Given the description of an element on the screen output the (x, y) to click on. 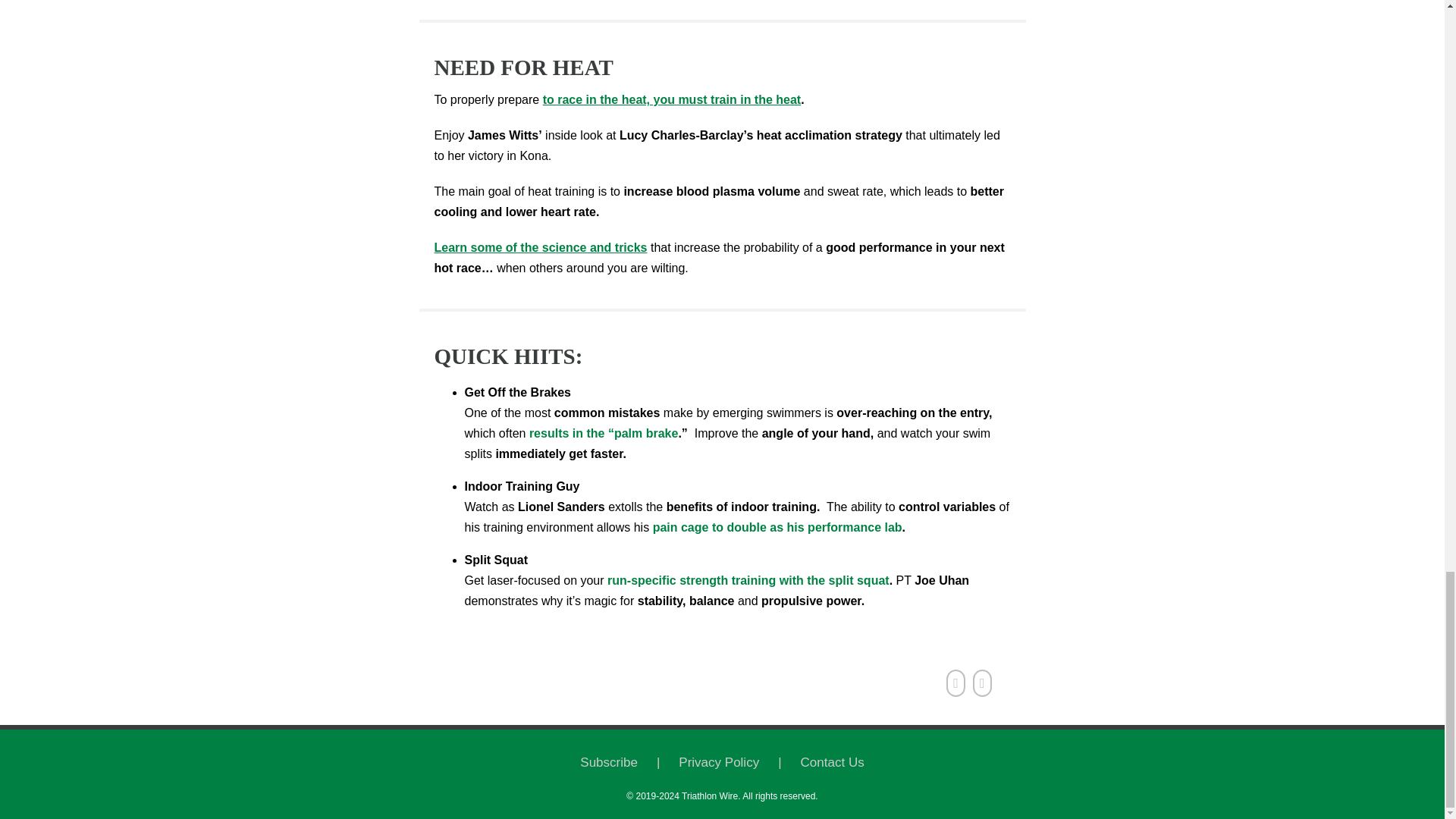
pain cage to double as his performance lab (777, 526)
Privacy Policy (738, 762)
to race in the heat, you must train in the heat (672, 99)
Subscribe (628, 762)
Contact Us (832, 762)
run-specific strength training with the split squat (748, 580)
Learn some of the science and tricks (539, 246)
